Given the description of an element on the screen output the (x, y) to click on. 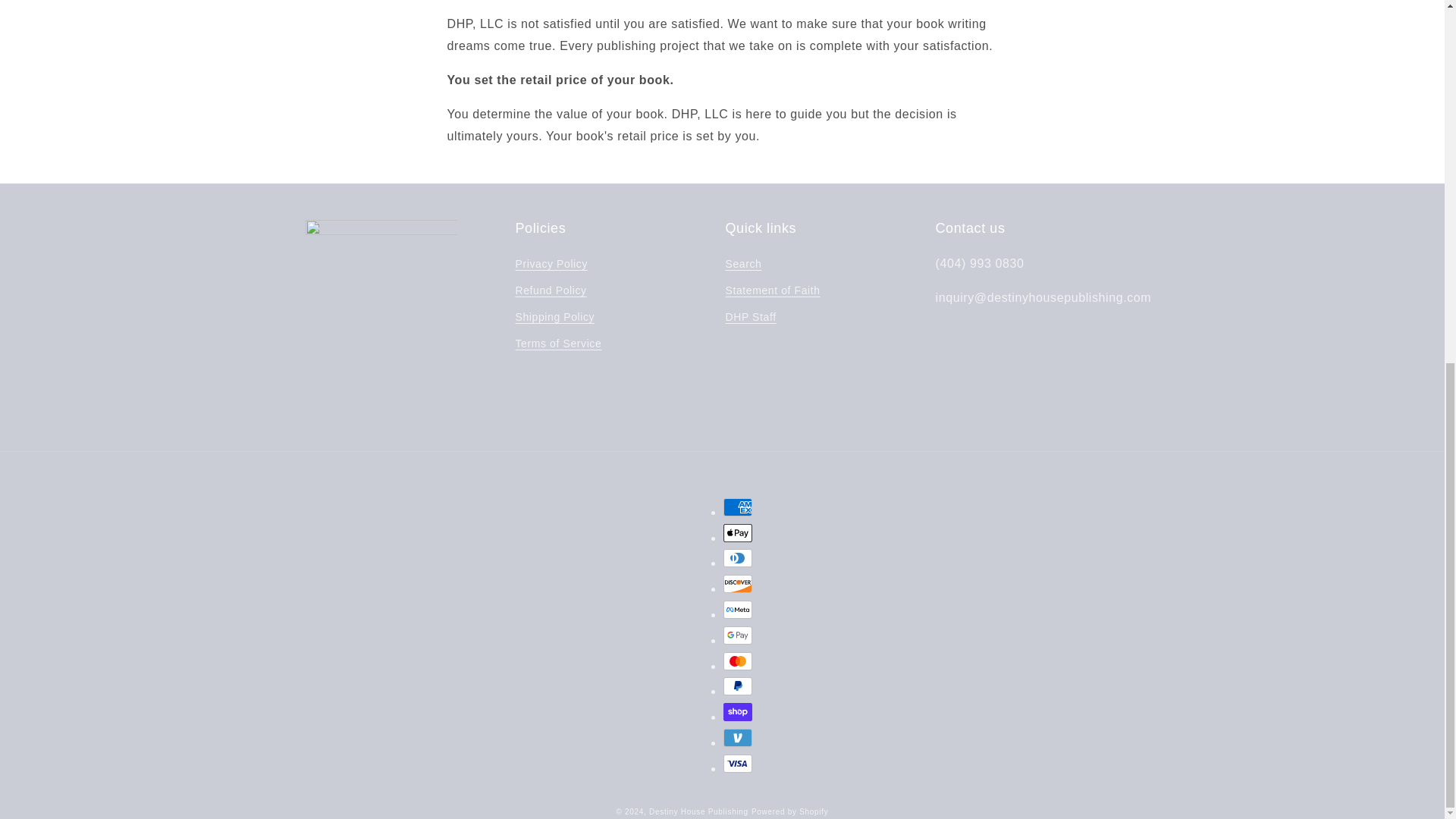
Apple Pay (737, 533)
Shop Pay (737, 711)
Venmo (737, 737)
Discover (737, 583)
PayPal (737, 686)
Terms of Service (558, 343)
Refund Policy (550, 290)
Diners Club (737, 557)
Destiny House Publishing (698, 811)
American Express (737, 506)
